Given the description of an element on the screen output the (x, y) to click on. 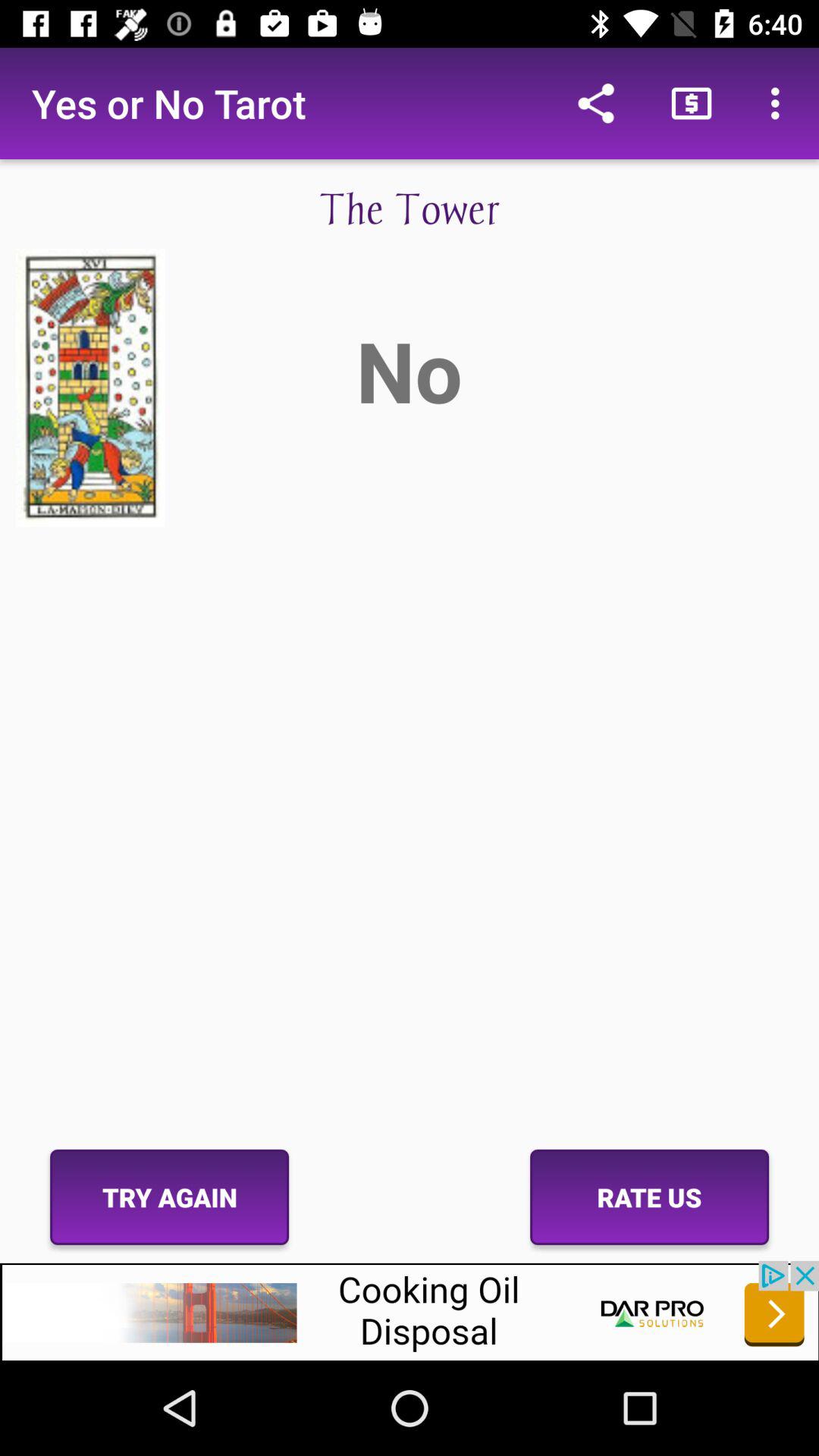
advertisement (409, 1310)
